Given the description of an element on the screen output the (x, y) to click on. 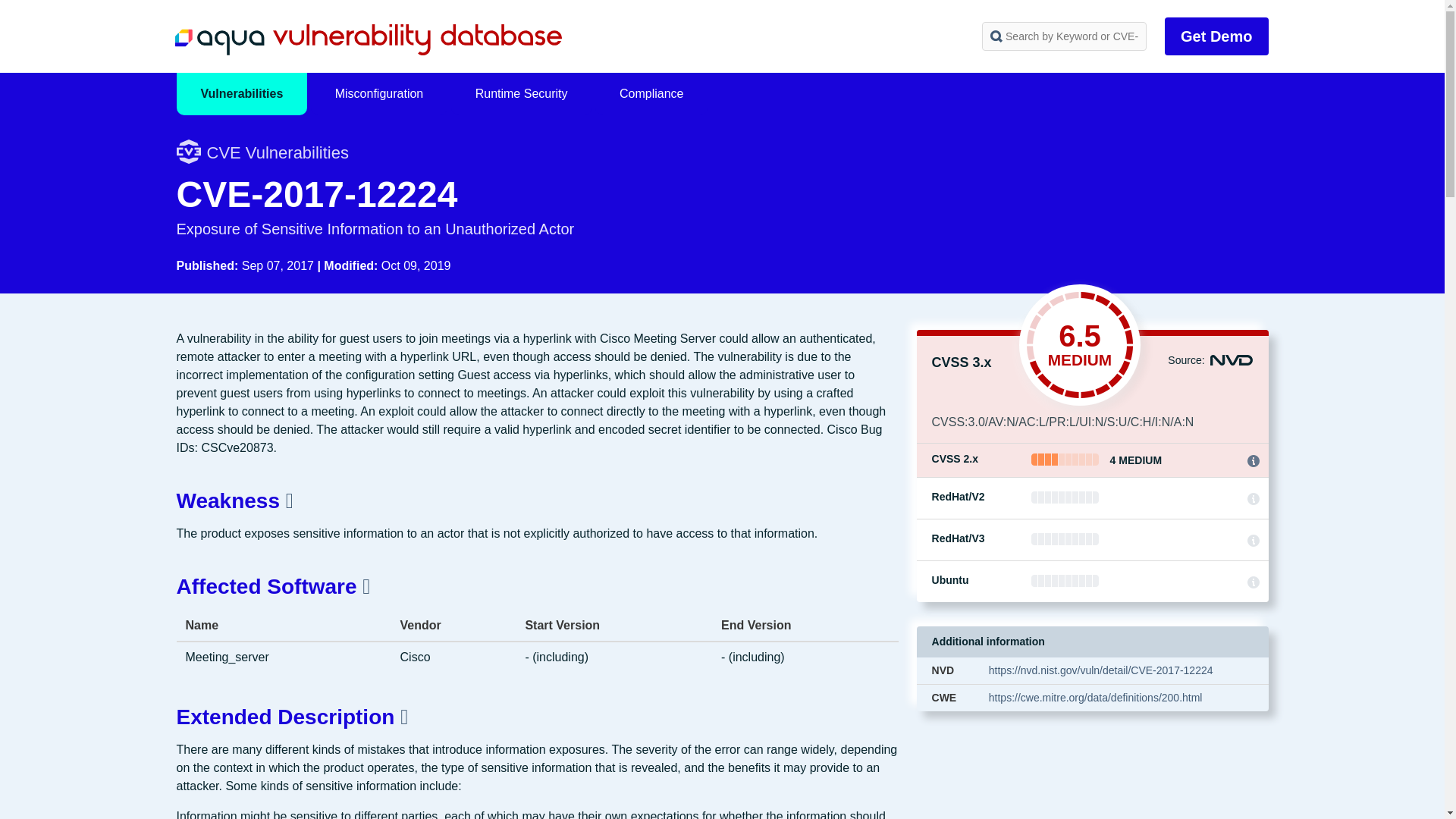
Vulnerabilities (241, 93)
Aqua Vulnerability Database (367, 39)
Aqua Vulnerability Database (367, 39)
Get Demo (1216, 36)
Misconfiguration (379, 93)
Runtime Security (521, 93)
Compliance (651, 93)
